Given the description of an element on the screen output the (x, y) to click on. 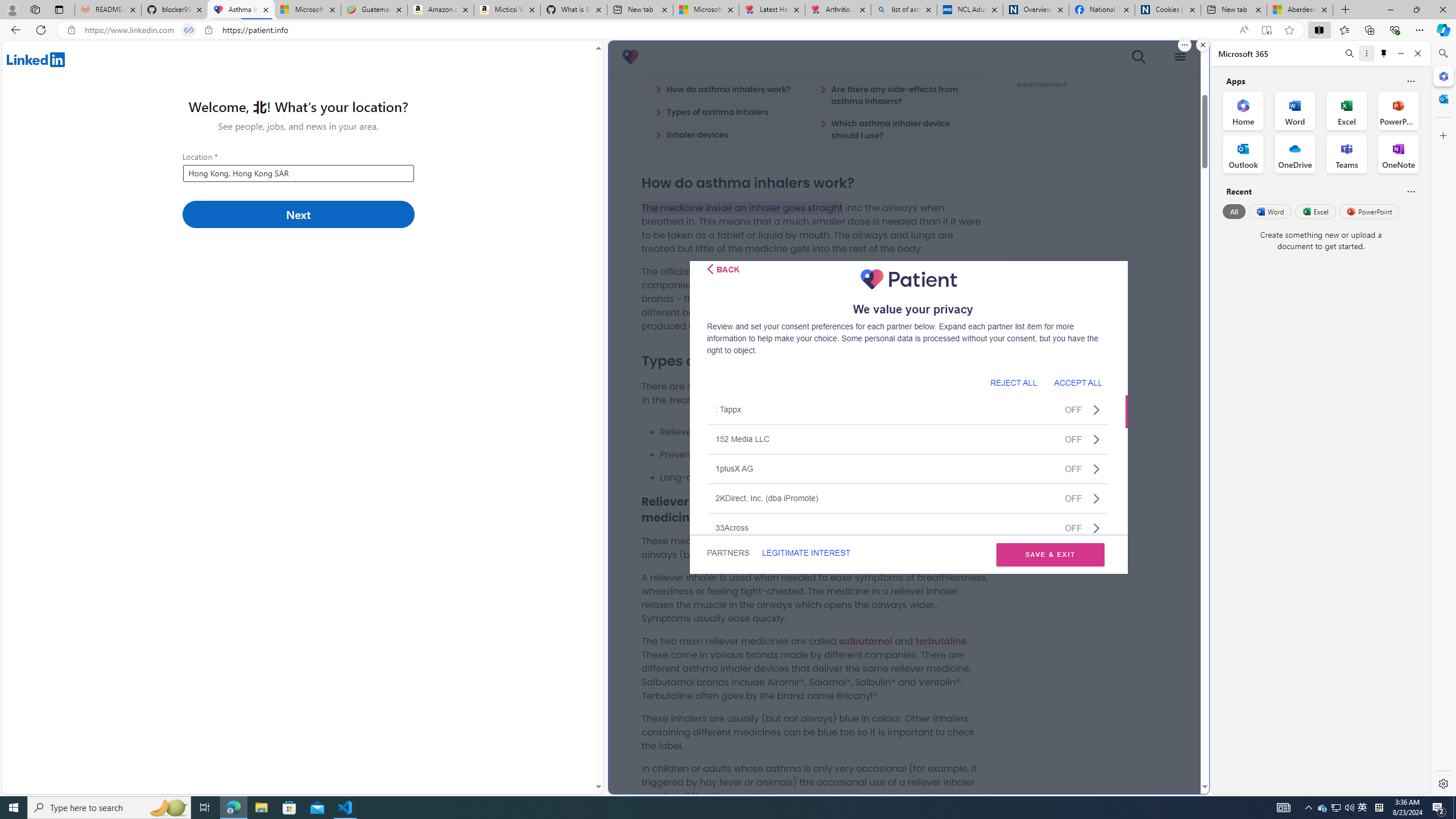
2KDirect, Inc. (dba iPromote)OFF (907, 498)
OneDrive Office App (1295, 154)
Relievers (short-acting bronchodilators). (823, 431)
Home Office App (1243, 110)
Teams Office App (1346, 154)
REJECT ALL (1013, 382)
Outlook Office App (1243, 154)
Close split screen. (1202, 45)
